Given the description of an element on the screen output the (x, y) to click on. 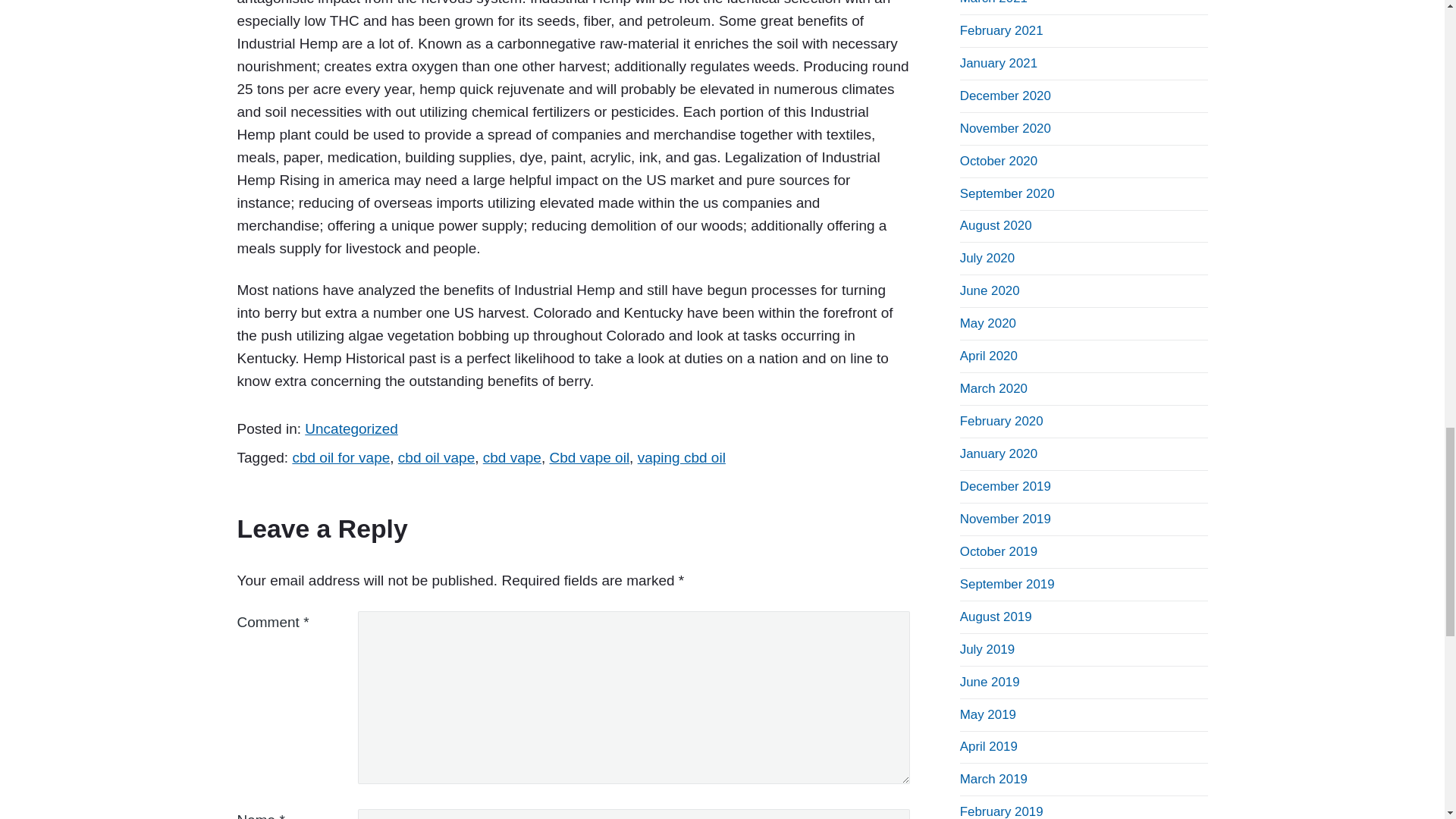
cbd oil vape (435, 457)
vaping cbd oil (681, 457)
Uncategorized (350, 428)
cbd oil for vape (341, 457)
Cbd vape oil (588, 457)
cbd vape (512, 457)
